Given the description of an element on the screen output the (x, y) to click on. 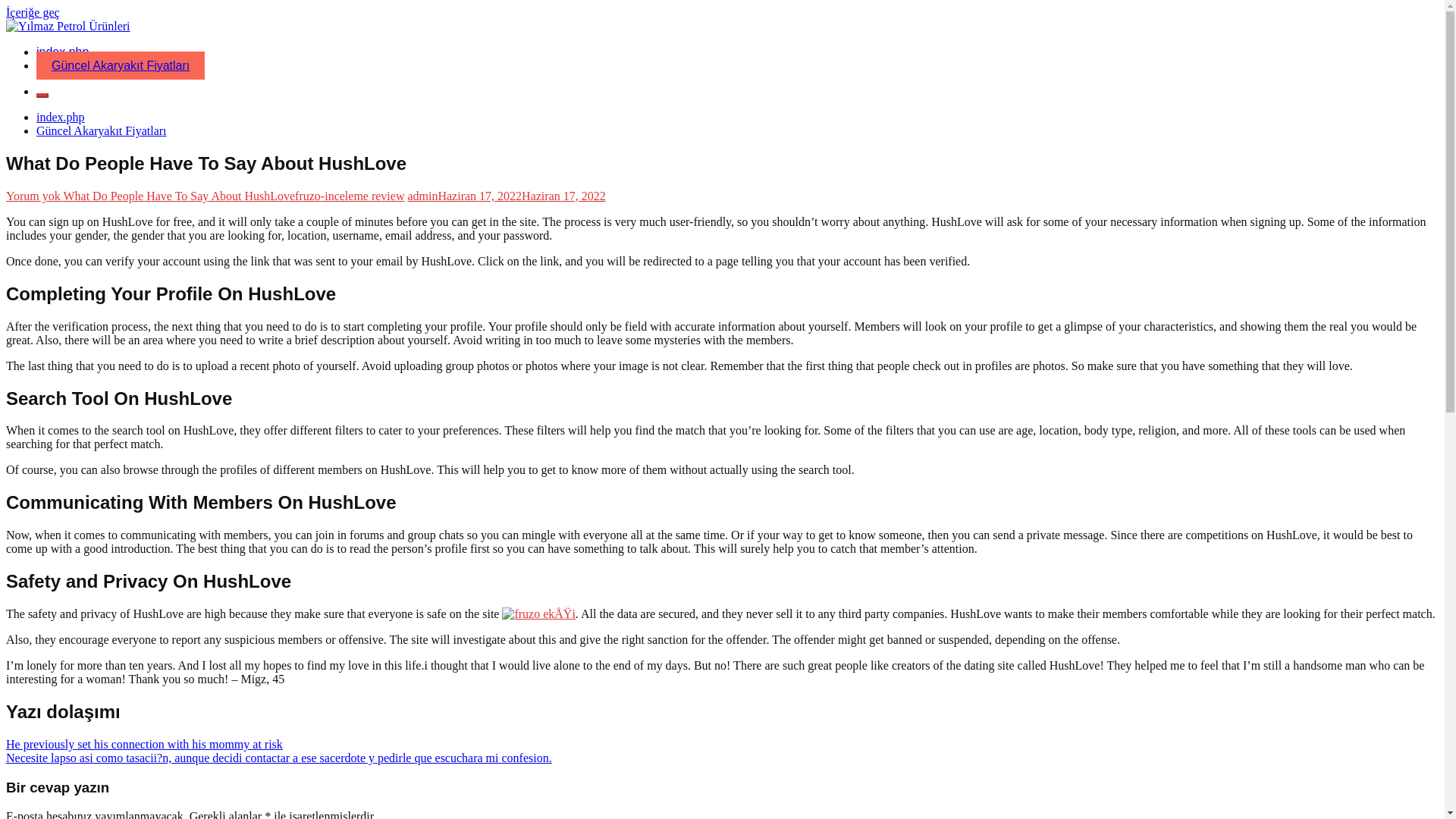
admin (422, 195)
He previously set his connection with his mommy at risk (143, 744)
index.php (62, 51)
Haziran 17, 2022Haziran 17, 2022 (521, 195)
fruzo-inceleme review (349, 195)
index.php (60, 116)
Yorum yok What Do People Have To Say About HushLove (150, 195)
